Given the description of an element on the screen output the (x, y) to click on. 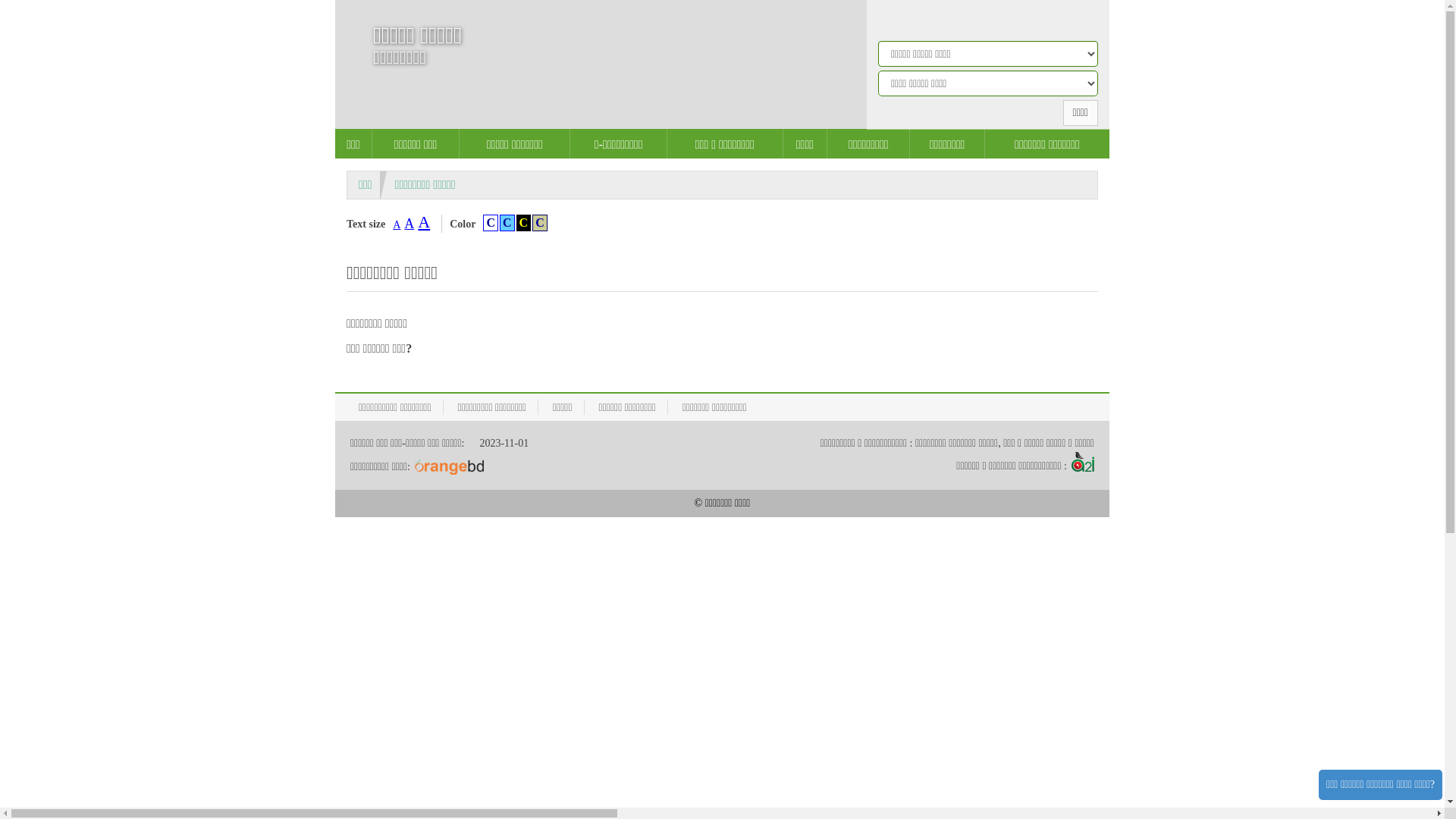
Skip to main content Element type: text (0, 0)
A Element type: text (396, 224)
C Element type: text (506, 222)
C Element type: text (490, 222)
C Element type: text (539, 222)
A Element type: text (409, 223)
C Element type: text (523, 222)
A Element type: text (423, 221)
